Given the description of an element on the screen output the (x, y) to click on. 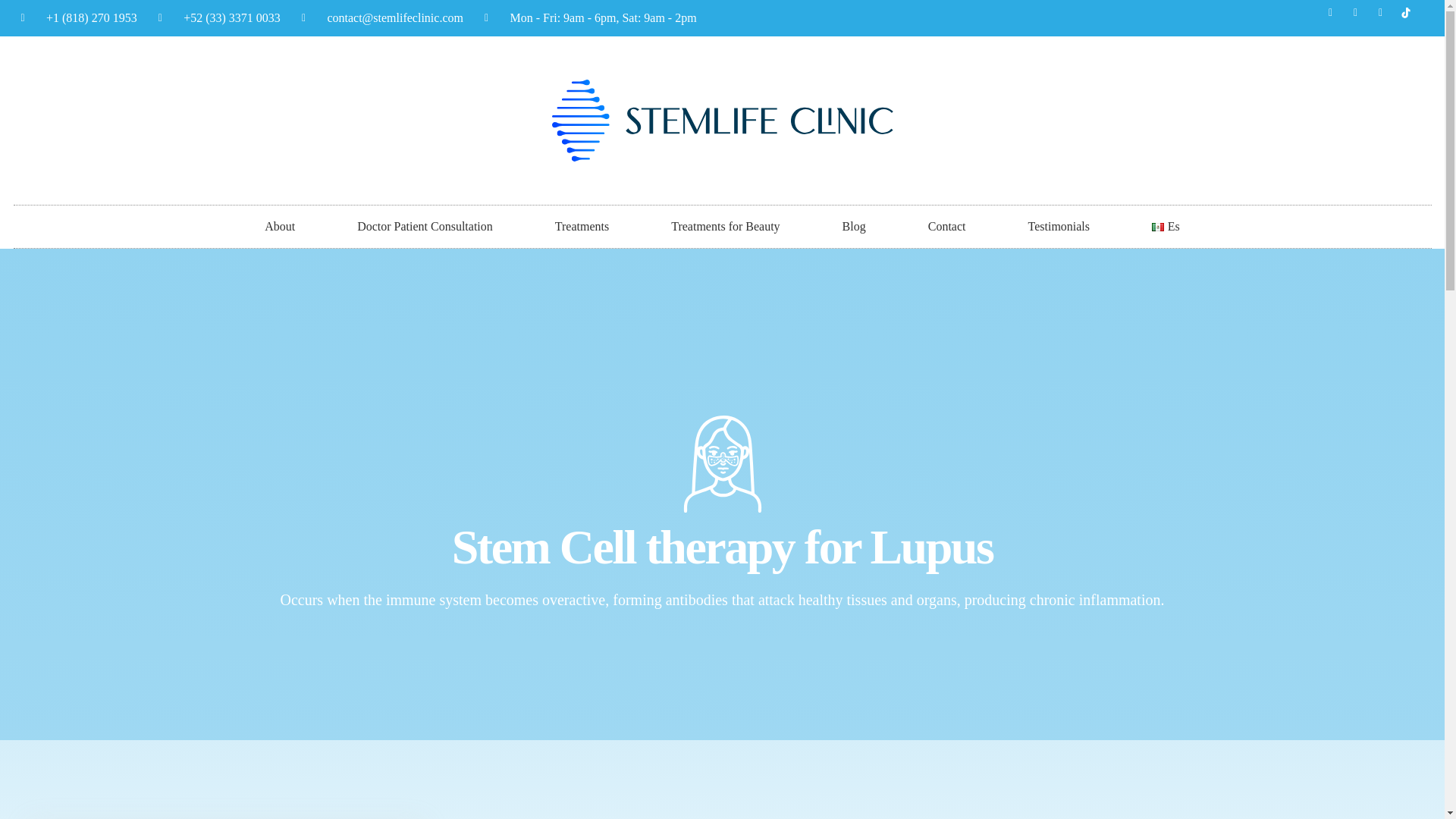
Treatments (582, 226)
About (279, 226)
Doctor Patient Consultation (425, 226)
